Given the description of an element on the screen output the (x, y) to click on. 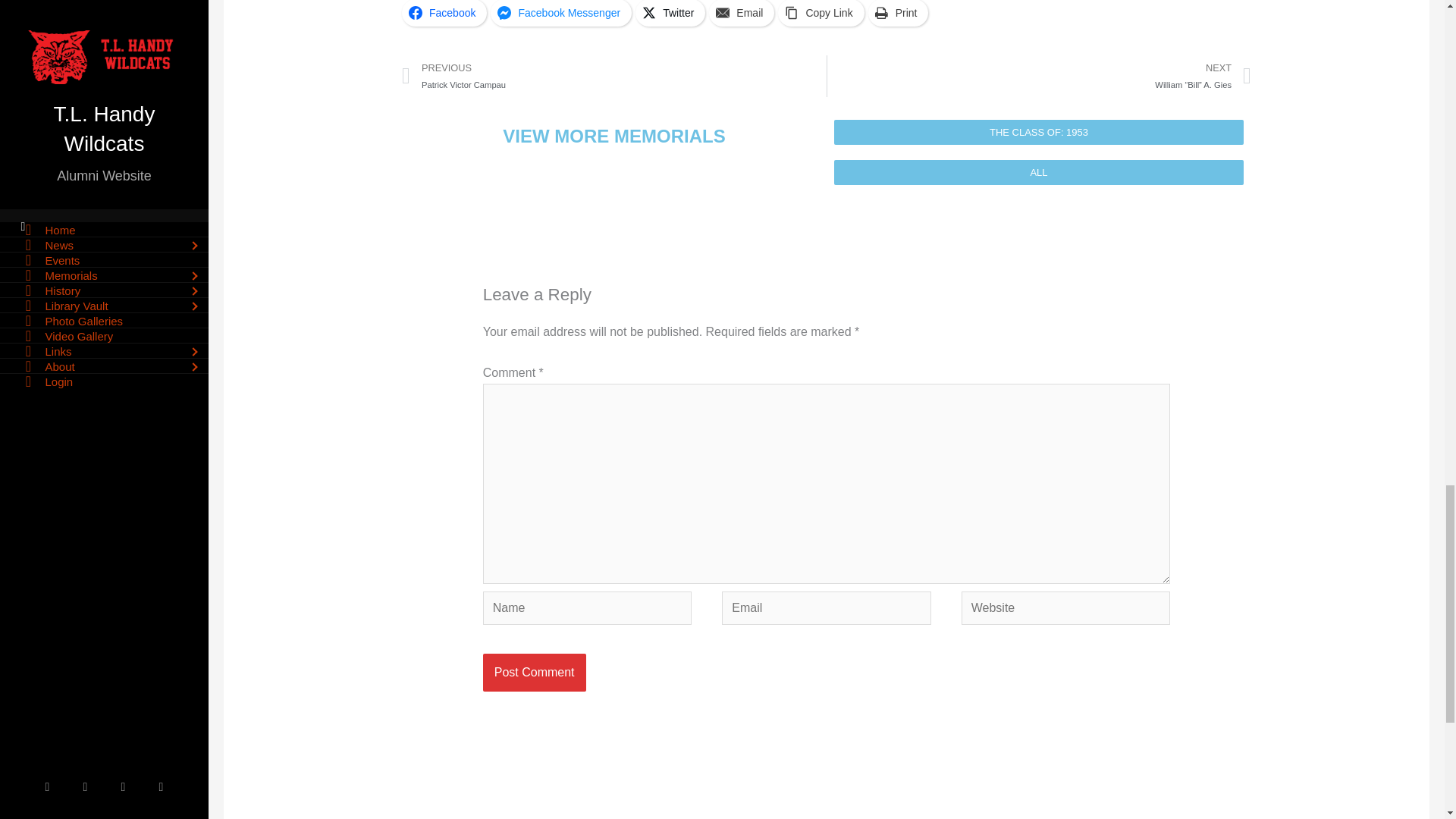
Share on Twitter (669, 13)
Share on Facebook Messenger (560, 13)
Share on Email (741, 13)
Share on Print (897, 13)
Post Comment (534, 672)
Share on Copy Link (820, 13)
Share on Facebook (443, 13)
